Given the description of an element on the screen output the (x, y) to click on. 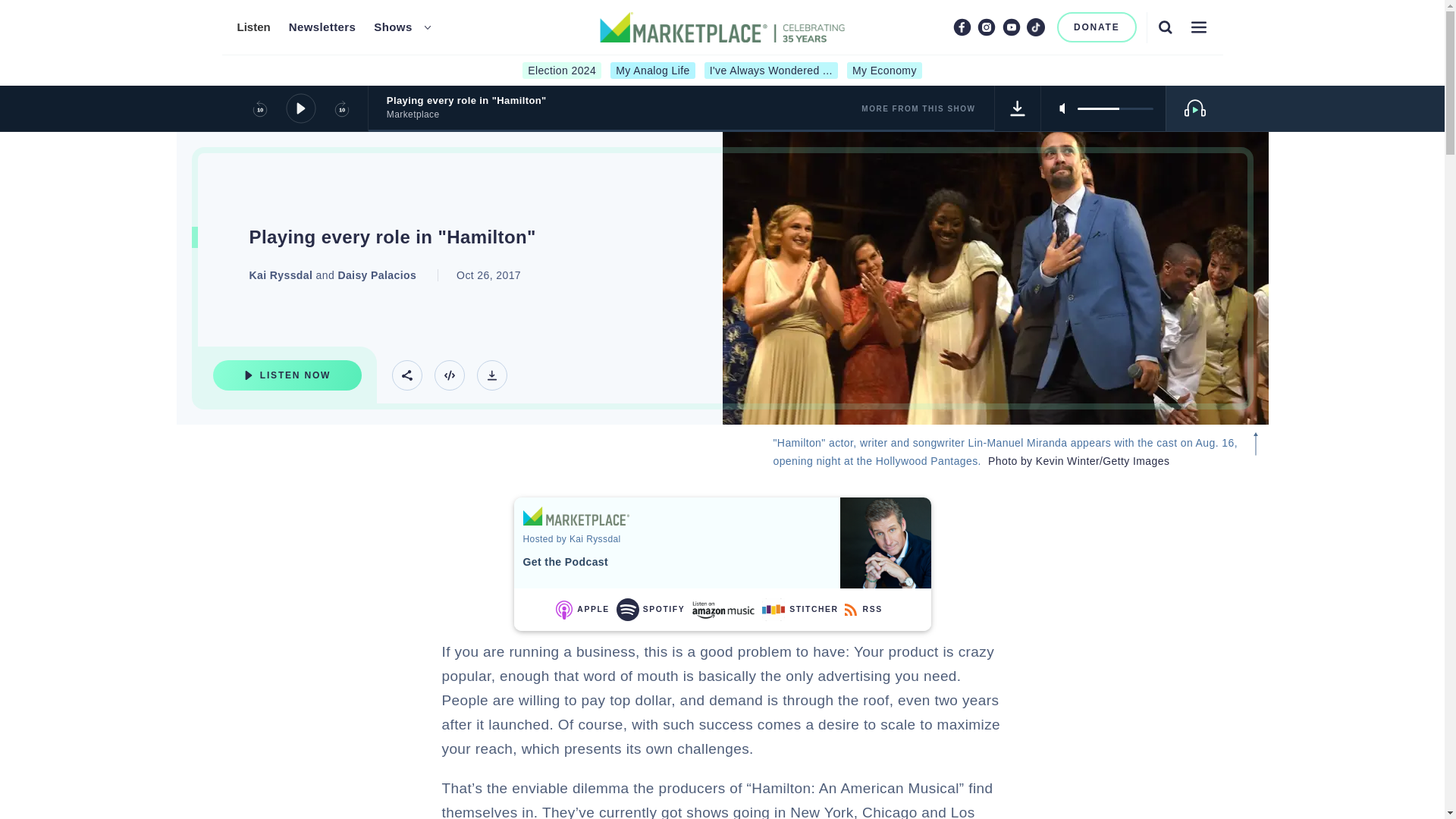
Facebook (962, 27)
5 (1115, 108)
volume (1115, 108)
Shows (393, 26)
Download Track (491, 374)
Newsletters (322, 27)
DONATE (1097, 27)
Marketplace (575, 515)
Instagram (985, 27)
Listen (252, 26)
Search (1164, 27)
Menu (1198, 27)
Youtube (1011, 27)
Listen Now (286, 374)
